Given the description of an element on the screen output the (x, y) to click on. 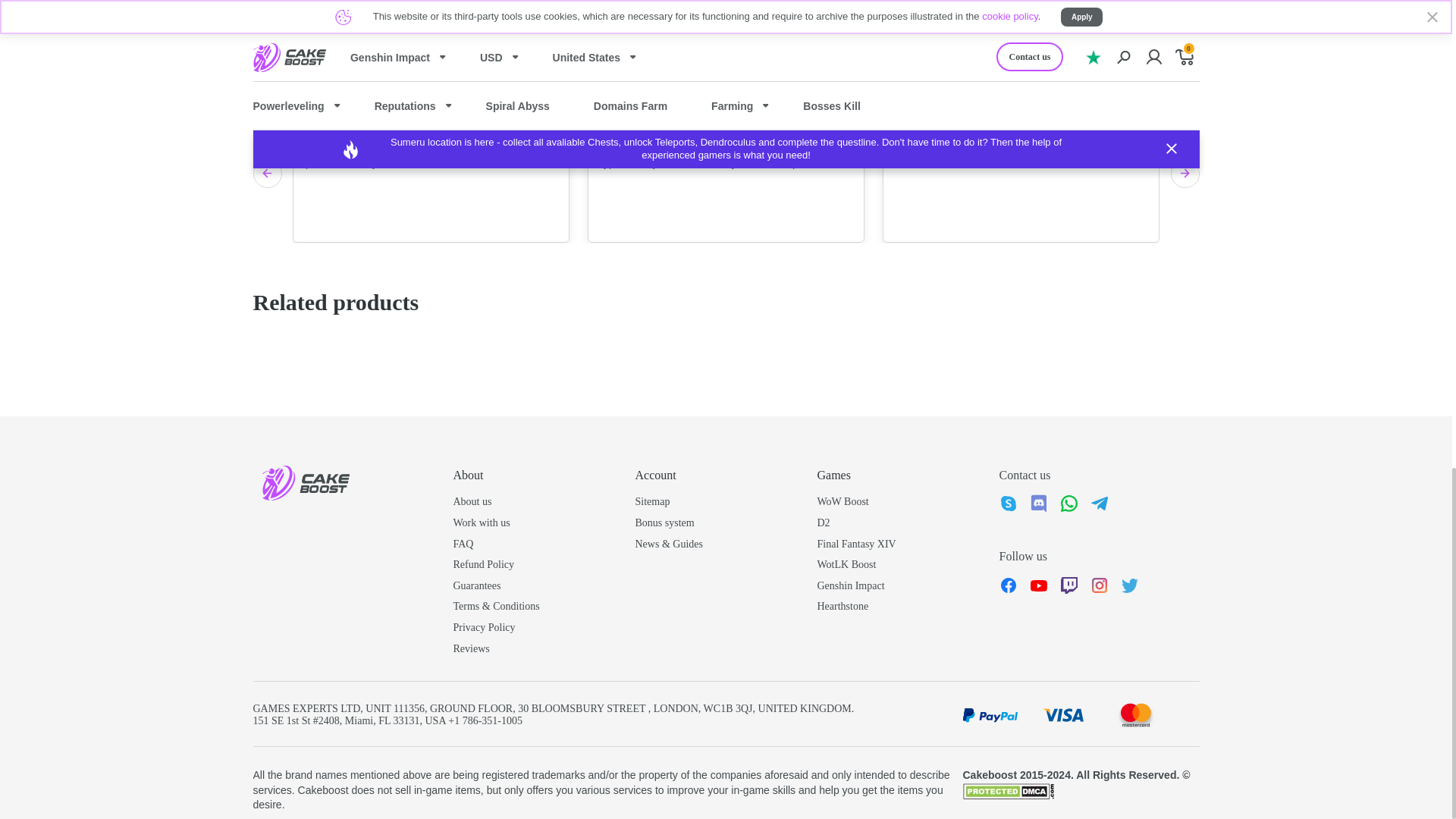
DMCA.com Protection Status (1008, 789)
Show more (490, 8)
